Given the description of an element on the screen output the (x, y) to click on. 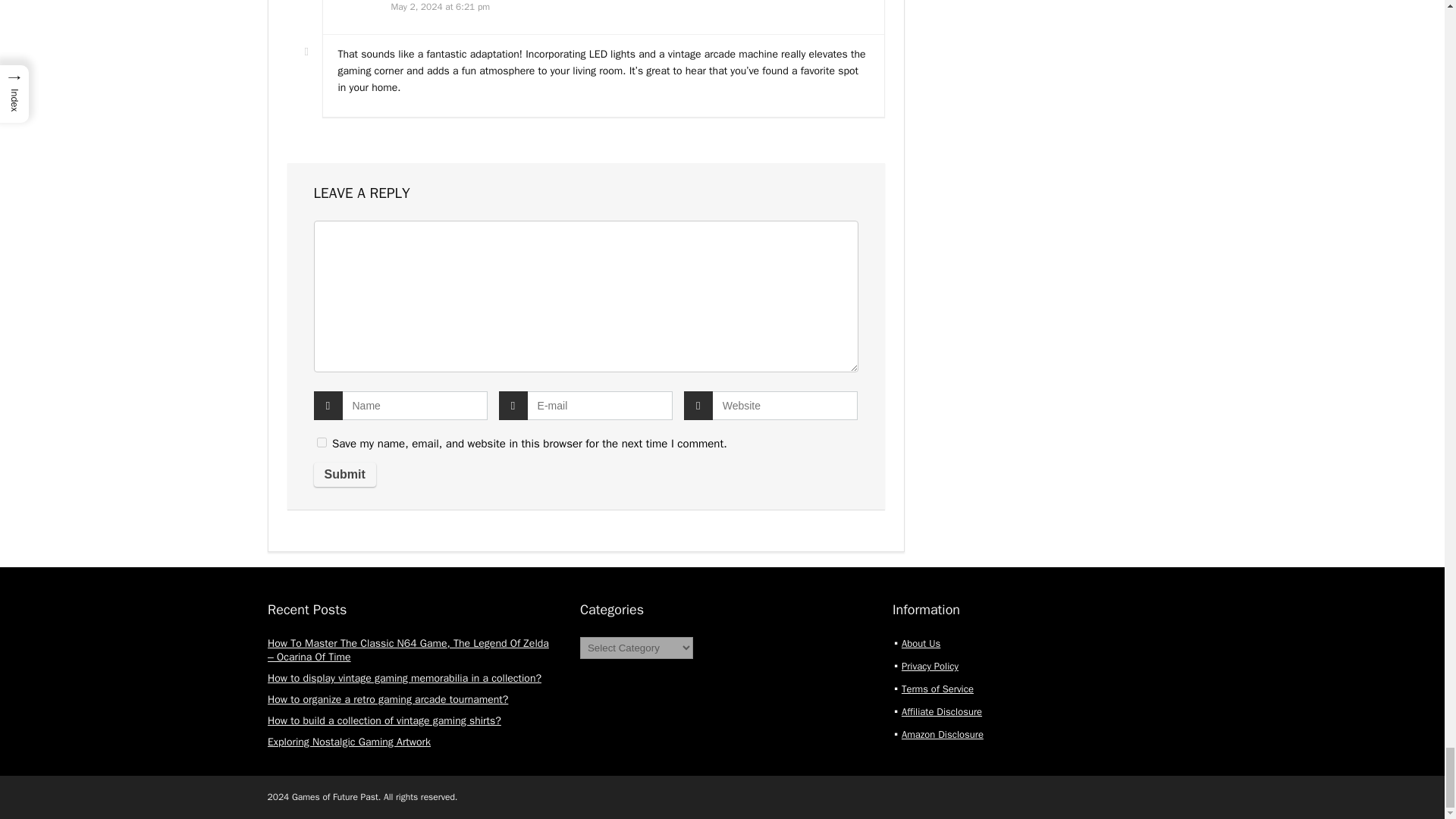
Submit (344, 474)
yes (321, 442)
